Given the description of an element on the screen output the (x, y) to click on. 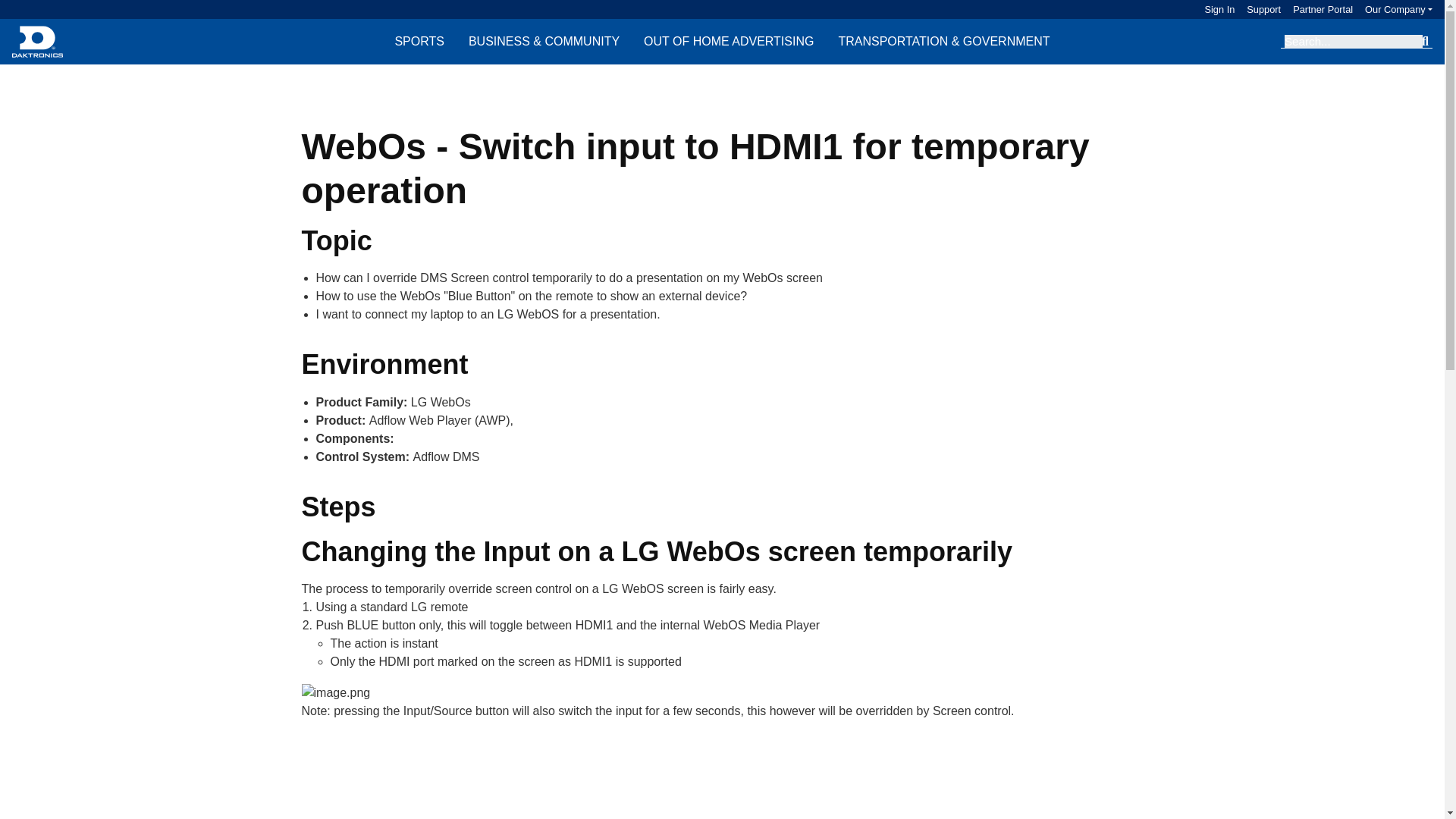
Support (1257, 9)
Our Company (1398, 9)
Daktronics (36, 41)
Partner Portal (1316, 9)
SPORTS (419, 41)
Sign In (1219, 9)
